Given the description of an element on the screen output the (x, y) to click on. 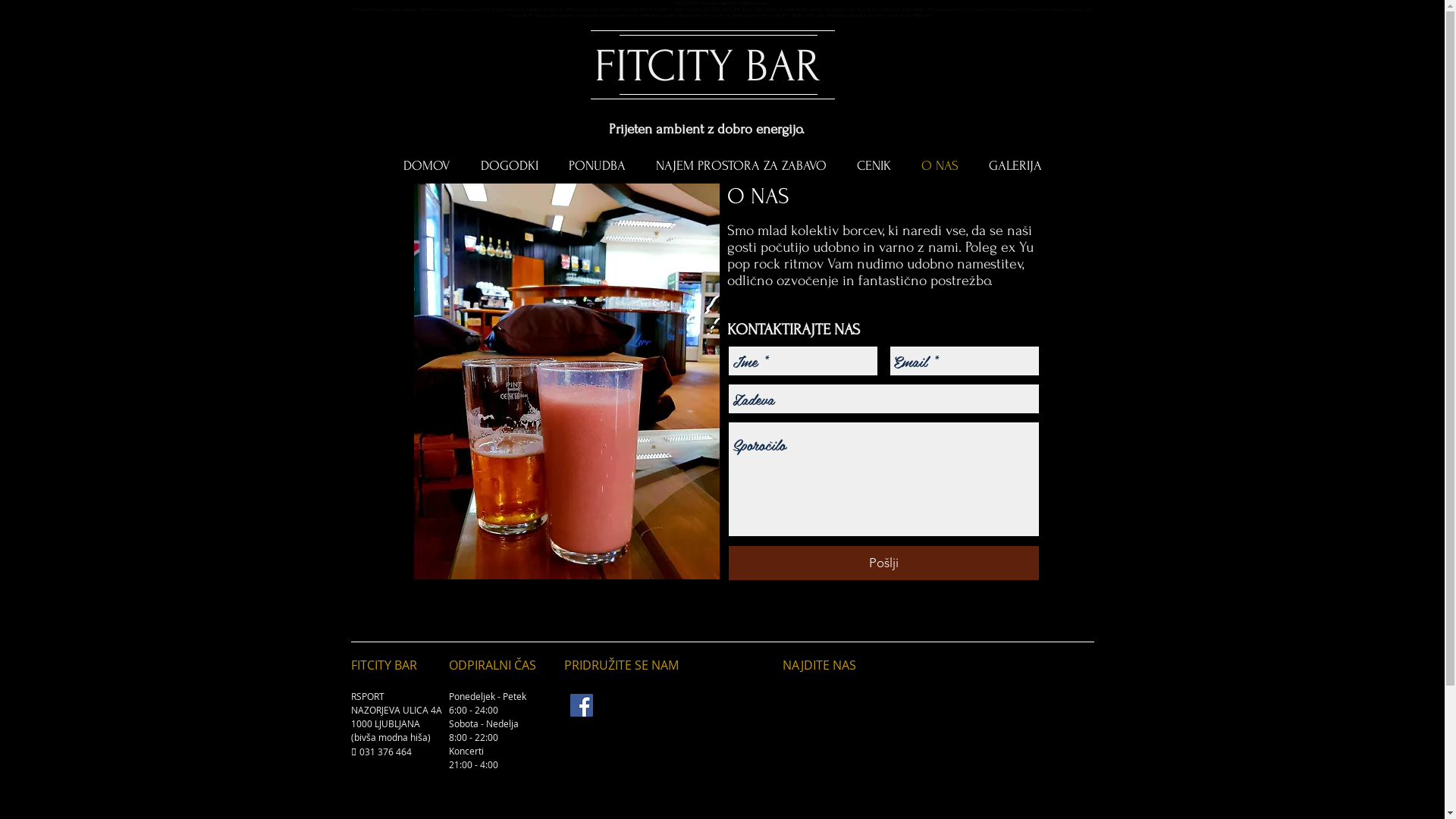
GALERIJA Element type: text (1015, 165)
https://www.facebook.com/pg/fitcitybar/about/ Element type: text (645, 705)
DOGODKI Element type: text (509, 165)
DOMOV Element type: text (426, 165)
FITCITY BAR Element type: text (707, 65)
https://www.rabljenispinnerji.com/fitcity-bar Element type: text (643, 711)
CENIK Element type: text (873, 165)
NAJEM PROSTORA ZA ZABAVO Element type: text (740, 165)
Prijeten ambient z dobro energijo. Element type: text (706, 129)
PONUDBA Element type: text (596, 165)
O NAS Element type: text (938, 165)
